Given the description of an element on the screen output the (x, y) to click on. 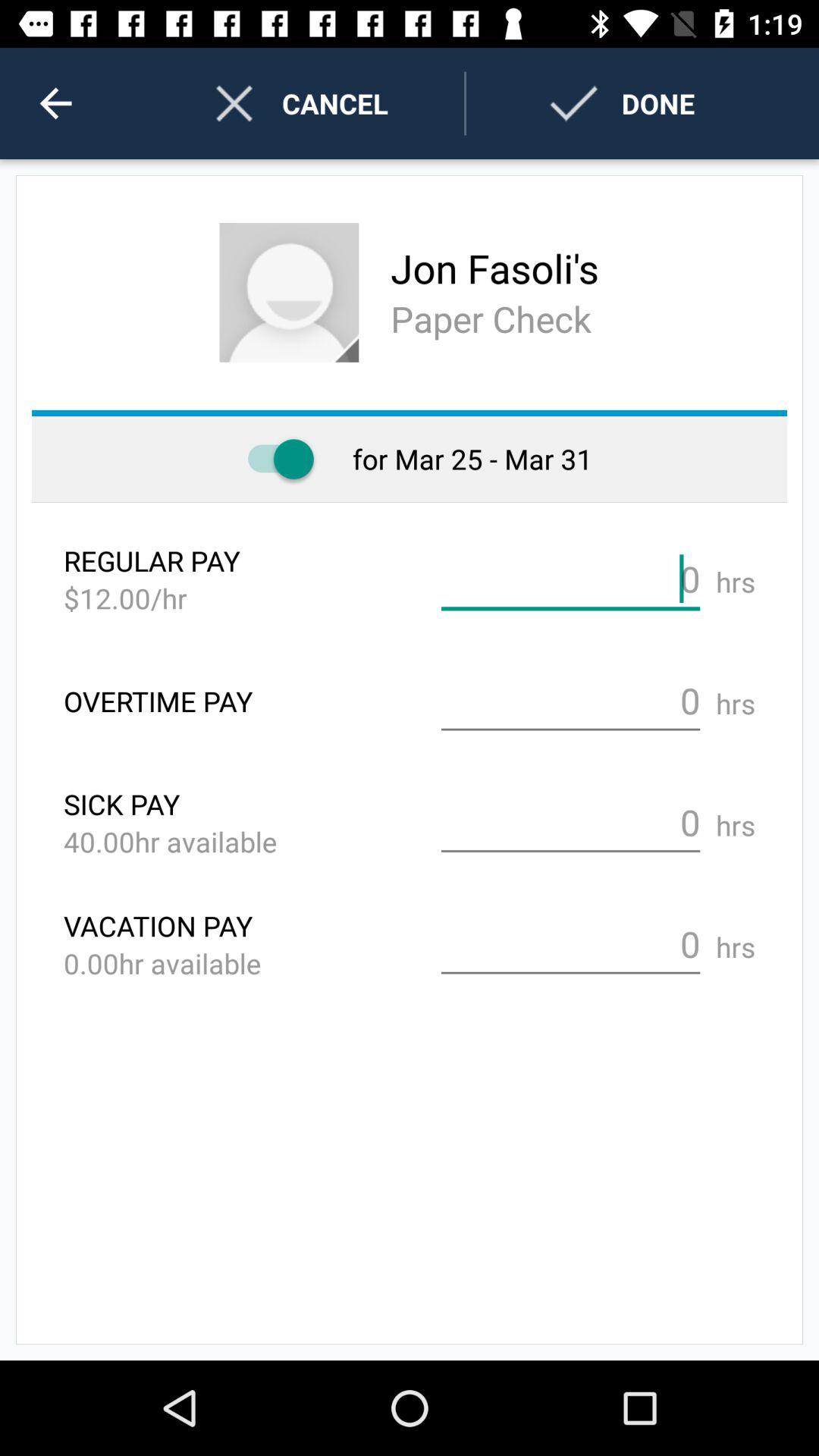
select the text field which is right to the text overtime pay (571, 700)
click on the profile image (289, 292)
select the toggle button on the page (273, 459)
